Given the description of an element on the screen output the (x, y) to click on. 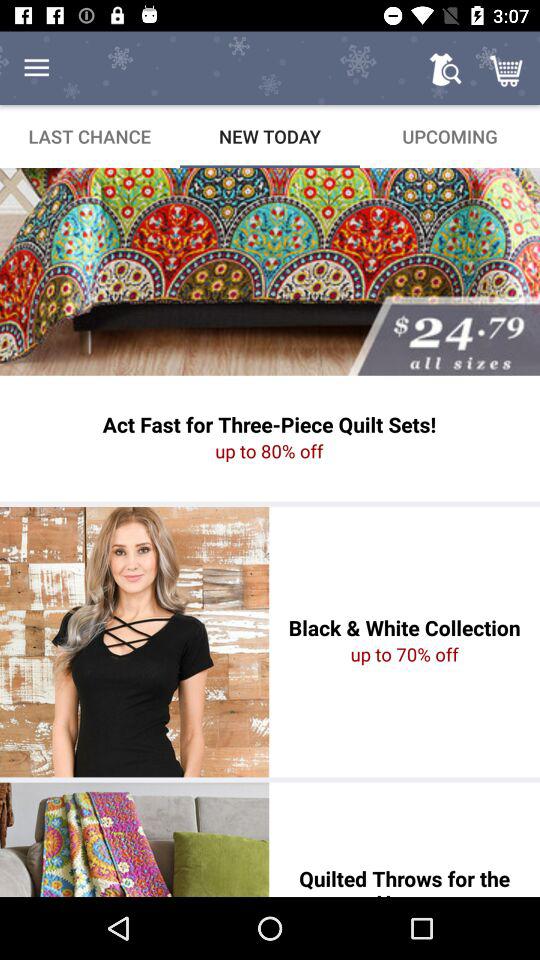
turn on icon above upcoming icon (444, 67)
